Given the description of an element on the screen output the (x, y) to click on. 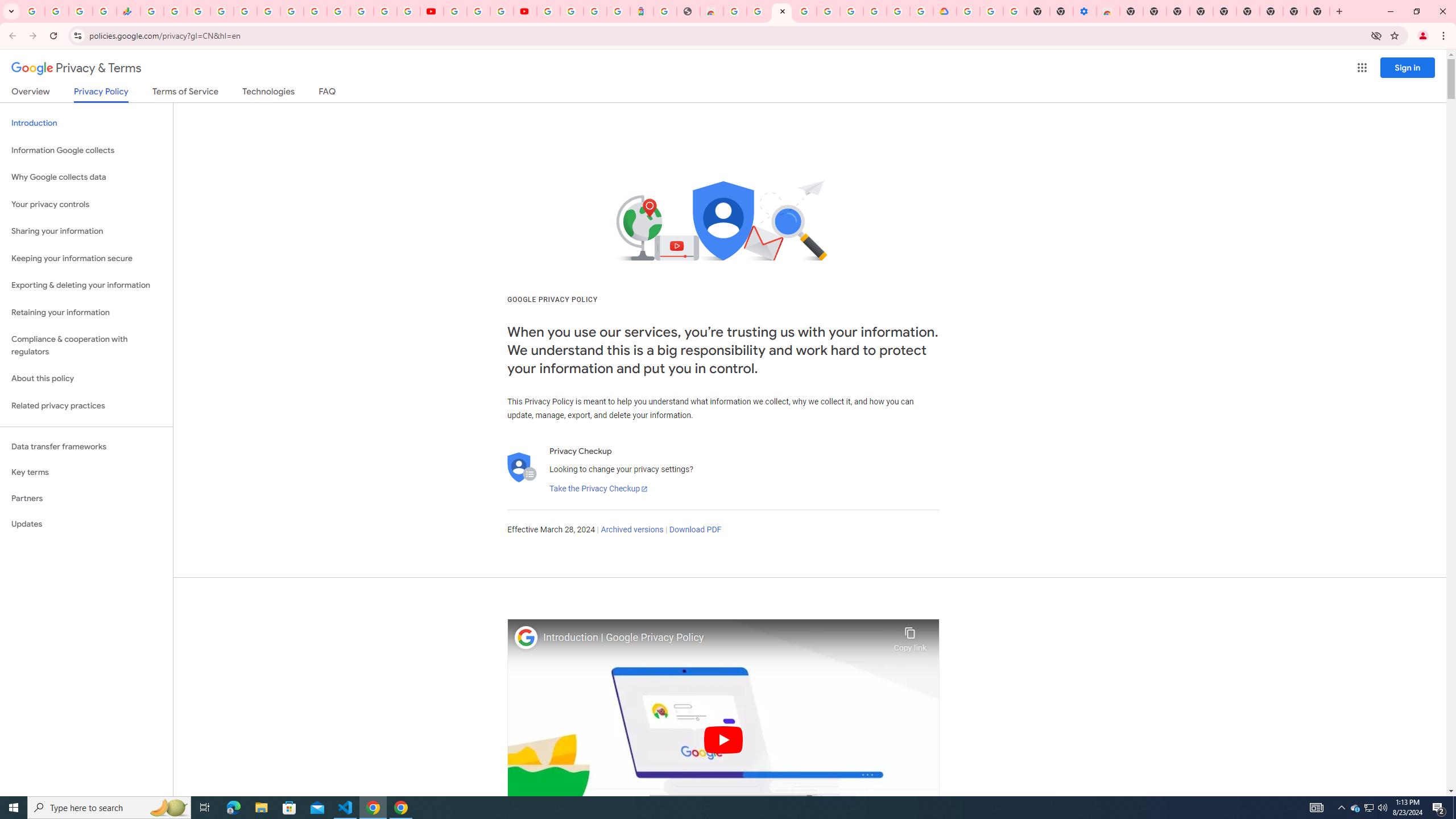
Technologies (268, 93)
Introduction | Google Privacy Policy (715, 637)
Google Workspace Admin Community (32, 11)
Turn cookies on or off - Computer - Google Account Help (1015, 11)
YouTube (454, 11)
Content Creator Programs & Opportunities - YouTube Creators (524, 11)
Your privacy controls (86, 204)
FAQ (327, 93)
YouTube (431, 11)
Chrome Web Store - Accessibility extensions (1108, 11)
Play (723, 739)
